Given the description of an element on the screen output the (x, y) to click on. 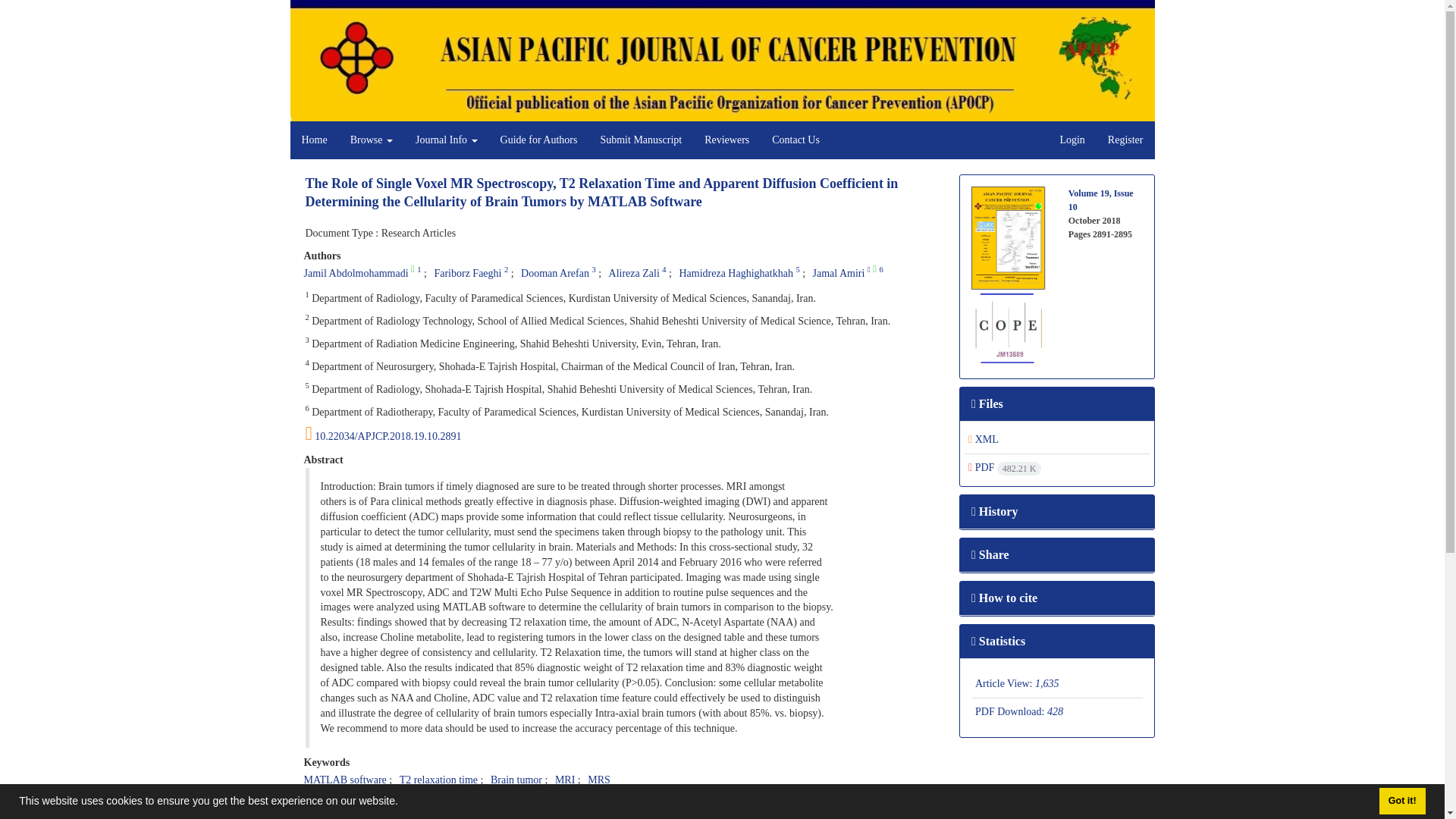
Guide for Authors (539, 139)
Contact Us (795, 139)
Home (313, 139)
DOI (620, 433)
Register (1125, 139)
Jamil Abdolmohammadi (354, 273)
Journal Info (446, 139)
Browse (371, 139)
Hamidreza Haghighatkhah (735, 273)
Submit Manuscript (640, 139)
